Given the description of an element on the screen output the (x, y) to click on. 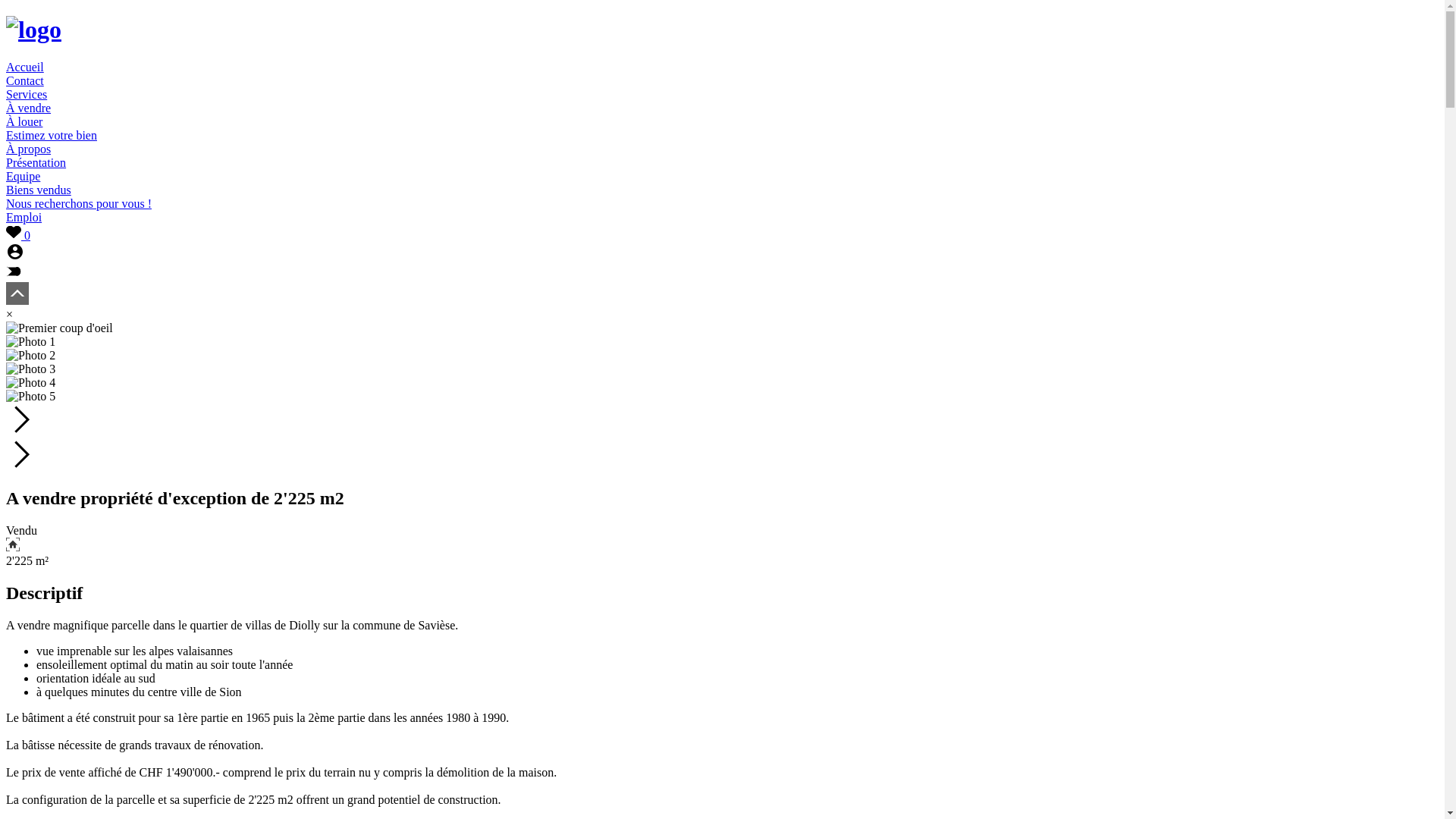
Accueil Element type: text (24, 66)
0 Element type: text (18, 235)
Biens vendus Element type: text (38, 189)
Estimez votre bien Element type: text (51, 134)
Equipe Element type: text (23, 175)
Services Element type: text (26, 93)
Nous recherchons pour vous ! Element type: text (78, 203)
Emploi Element type: text (23, 216)
Contact Element type: text (24, 80)
